Given the description of an element on the screen output the (x, y) to click on. 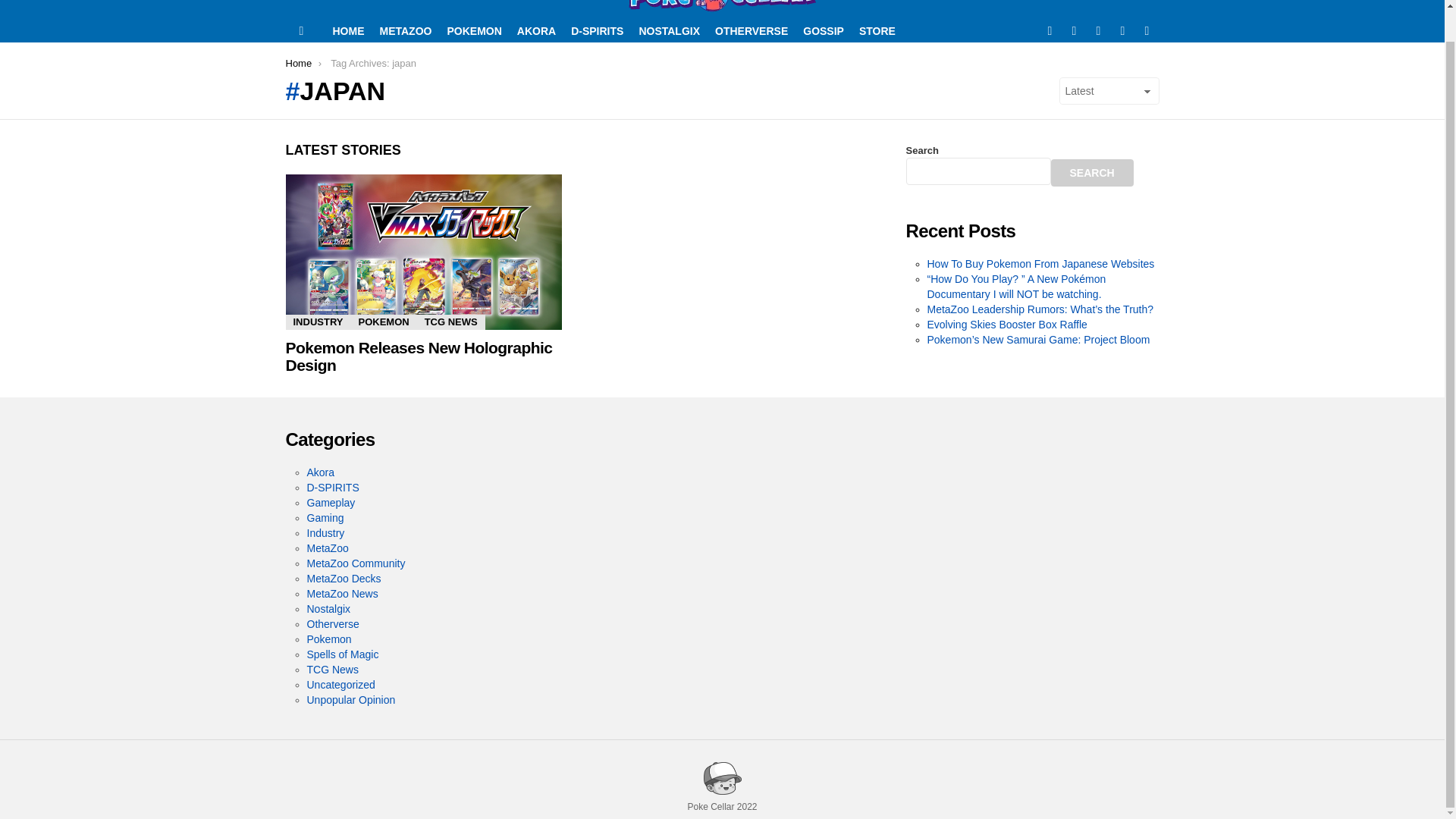
Akora (319, 472)
Gaming (324, 517)
INDUSTRY (317, 322)
HOME (347, 30)
TCG NEWS (450, 322)
tiktok (1146, 30)
Facebook (1048, 30)
GOSSIP (822, 30)
Twitter (1073, 30)
How To Buy Pokemon From Japanese Websites (1040, 263)
Instagram (1121, 30)
Pokemon Releases New Holographic Design (422, 252)
POKEMON (473, 30)
Pokemon Releases New Holographic Design (418, 356)
Menu (301, 31)
